Given the description of an element on the screen output the (x, y) to click on. 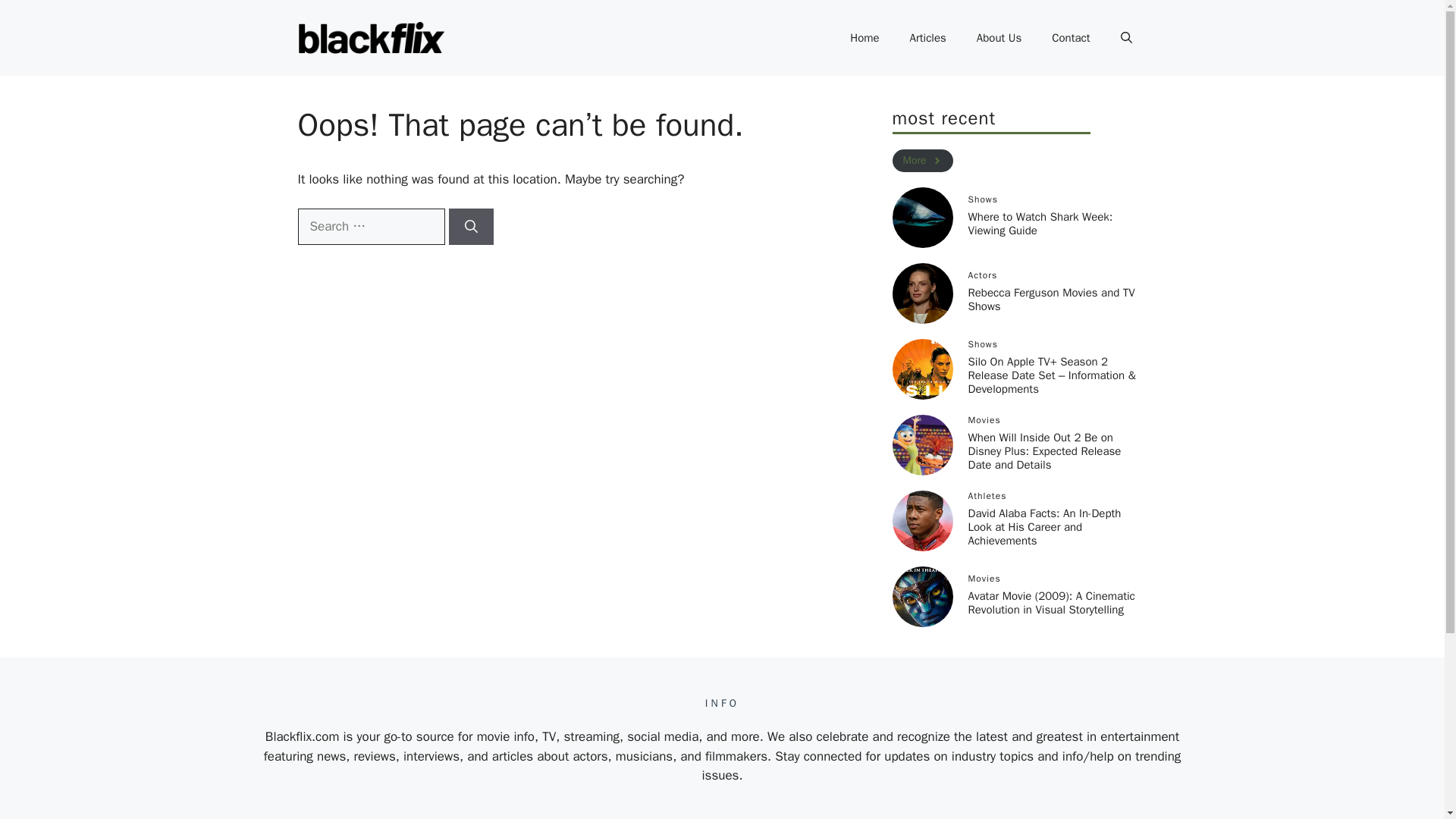
Contact (1070, 37)
Articles (927, 37)
Home (863, 37)
Where to Watch Shark Week: Viewing Guide (1040, 223)
Rebecca Ferguson Movies and TV Shows (1051, 298)
More (921, 160)
Search for: (370, 226)
About Us (998, 37)
